Given the description of an element on the screen output the (x, y) to click on. 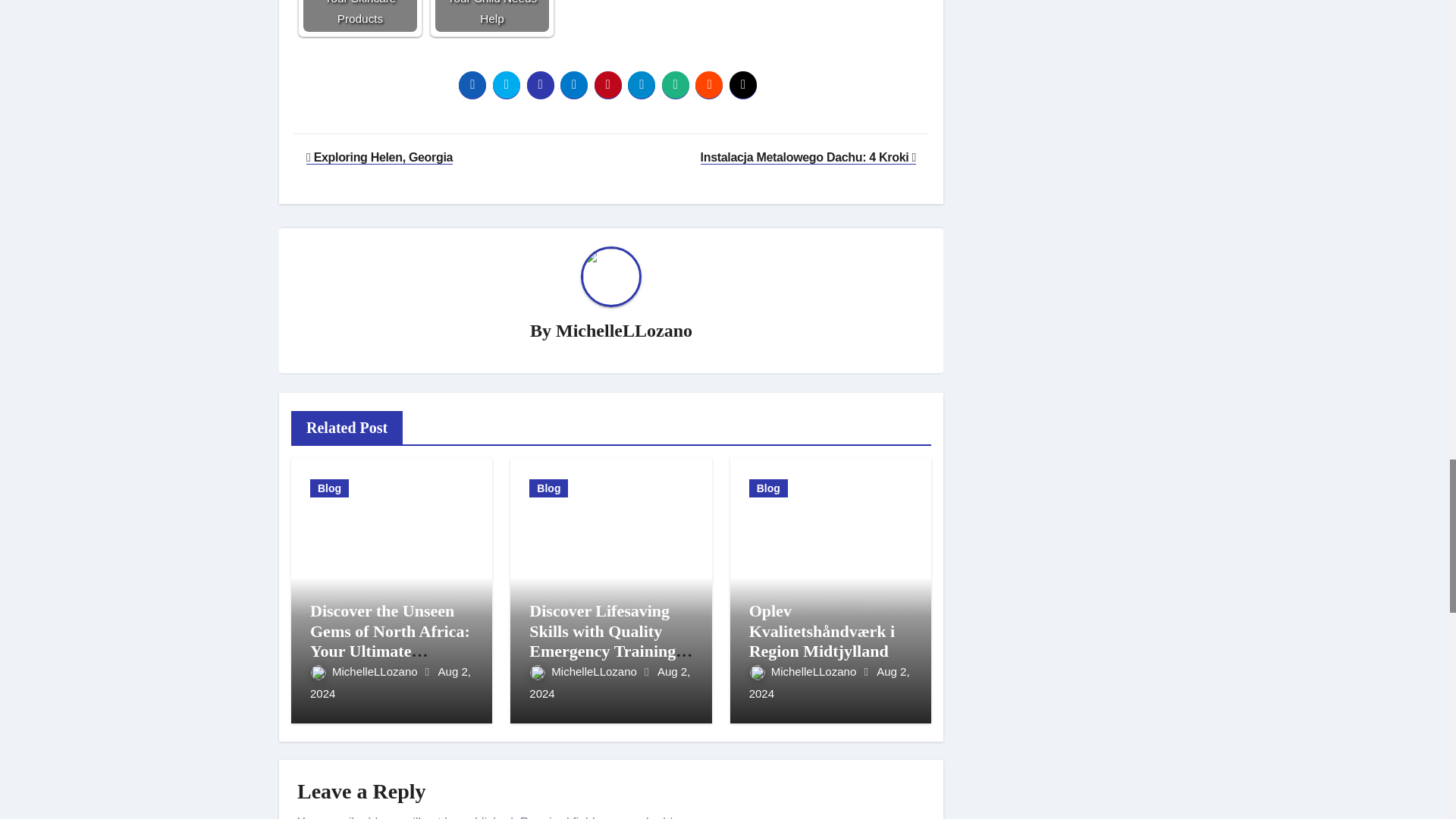
Teen Mental Health: How to Know When Your Child Needs Help (491, 15)
Skincare Routine Order: How To Layer Your Skincare Products (359, 15)
